Given the description of an element on the screen output the (x, y) to click on. 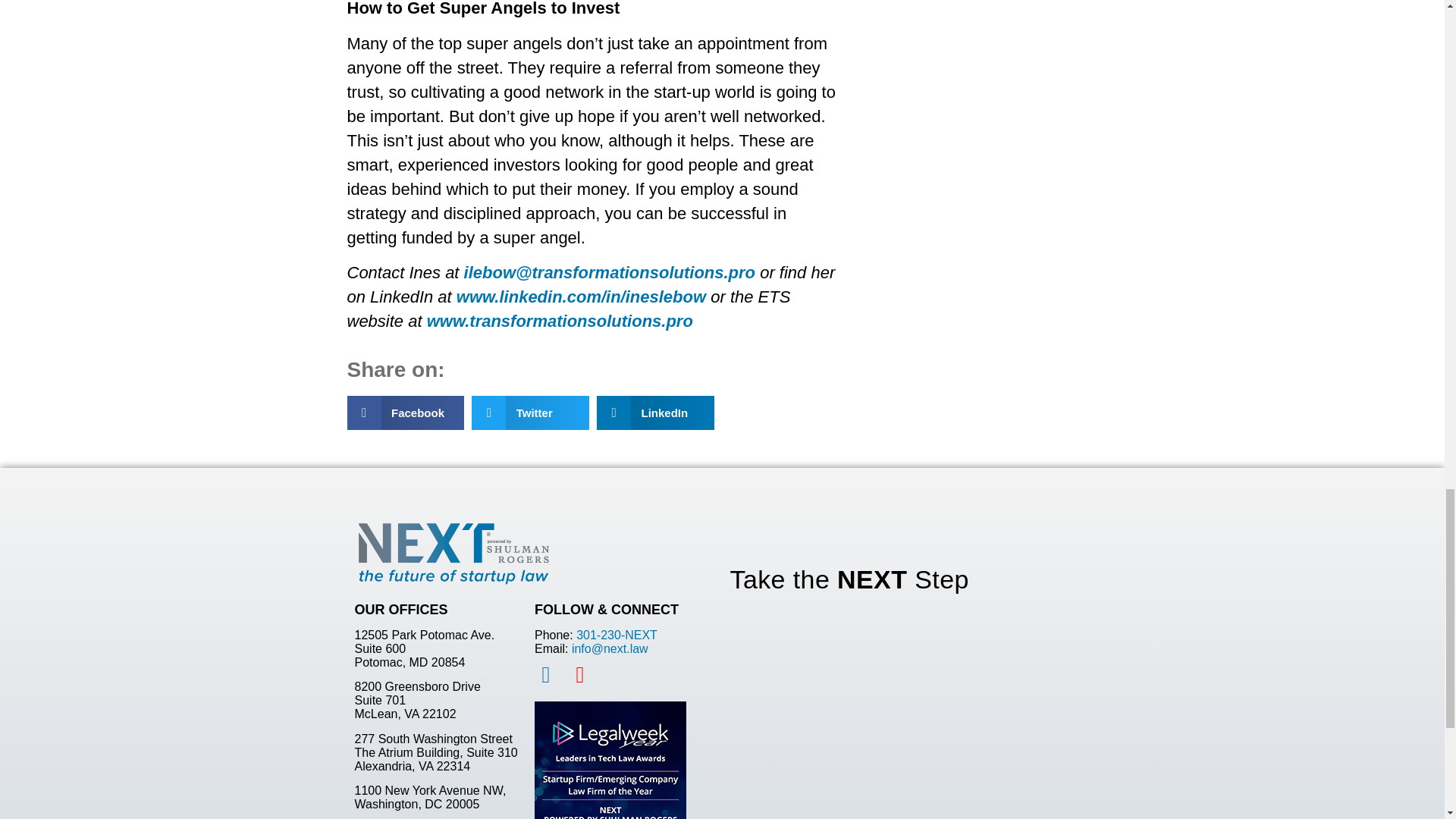
Form 0 (909, 713)
